Given the description of an element on the screen output the (x, y) to click on. 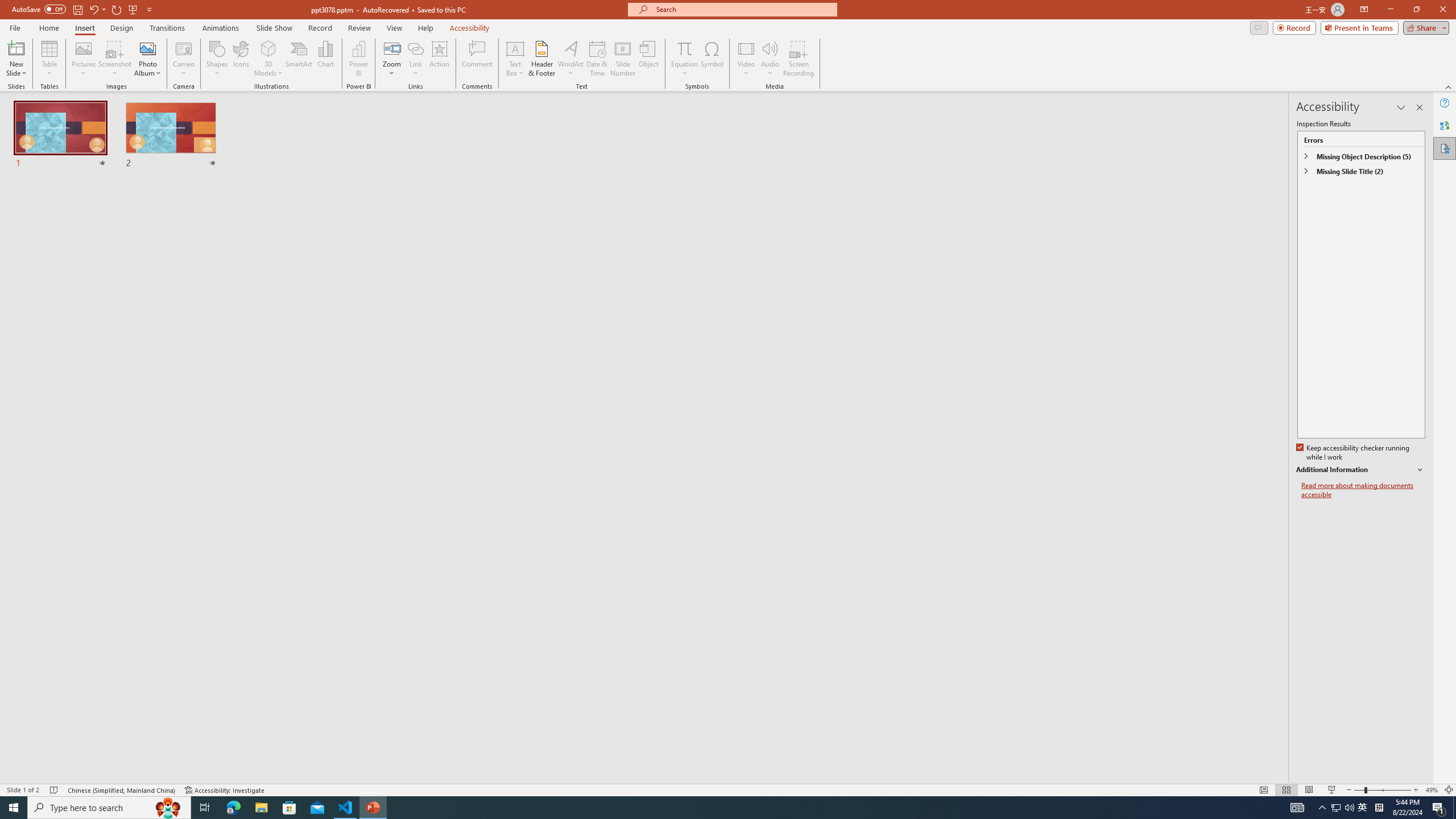
Audio (769, 58)
Draw Horizontal Text Box (515, 48)
3D Models (268, 58)
SmartArt... (298, 58)
